Given the description of an element on the screen output the (x, y) to click on. 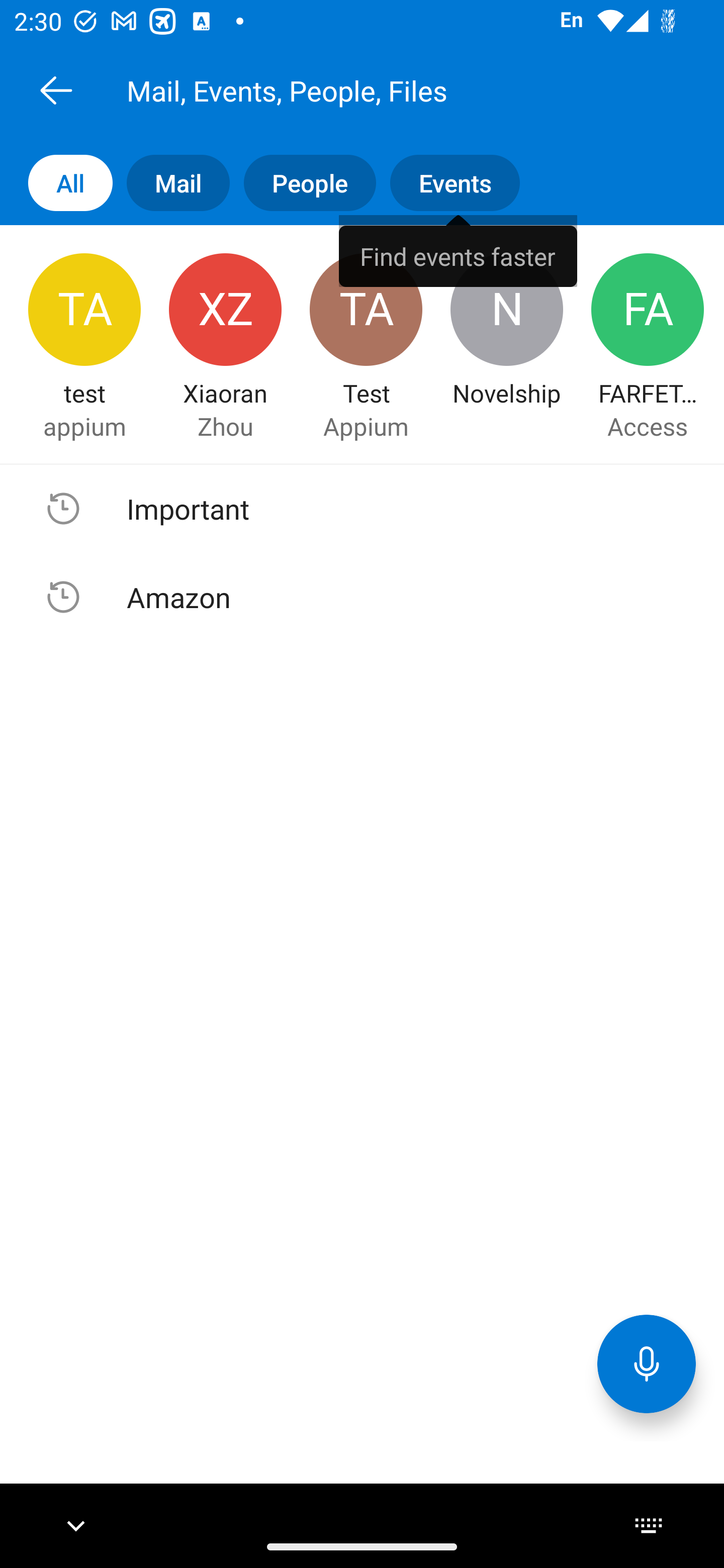
Find events faster (457, 250)
